Given the description of an element on the screen output the (x, y) to click on. 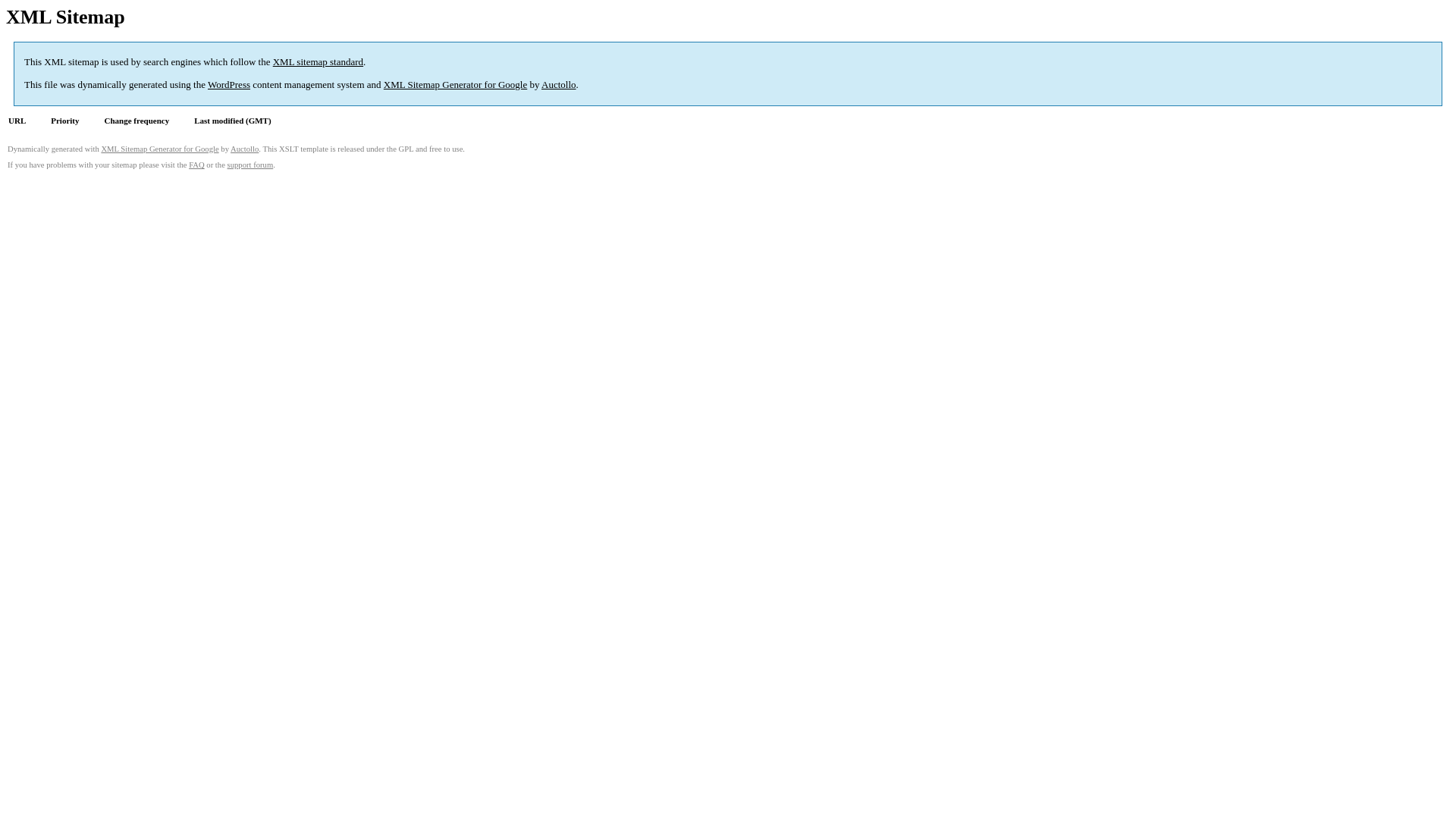
Auctollo Element type: text (244, 148)
WordPress Element type: text (228, 84)
XML sitemap standard Element type: text (318, 61)
Auctollo Element type: text (558, 84)
XML Sitemap Generator for Google Element type: text (159, 148)
FAQ Element type: text (196, 164)
support forum Element type: text (250, 164)
XML Sitemap Generator for Google Element type: text (455, 84)
